Given the description of an element on the screen output the (x, y) to click on. 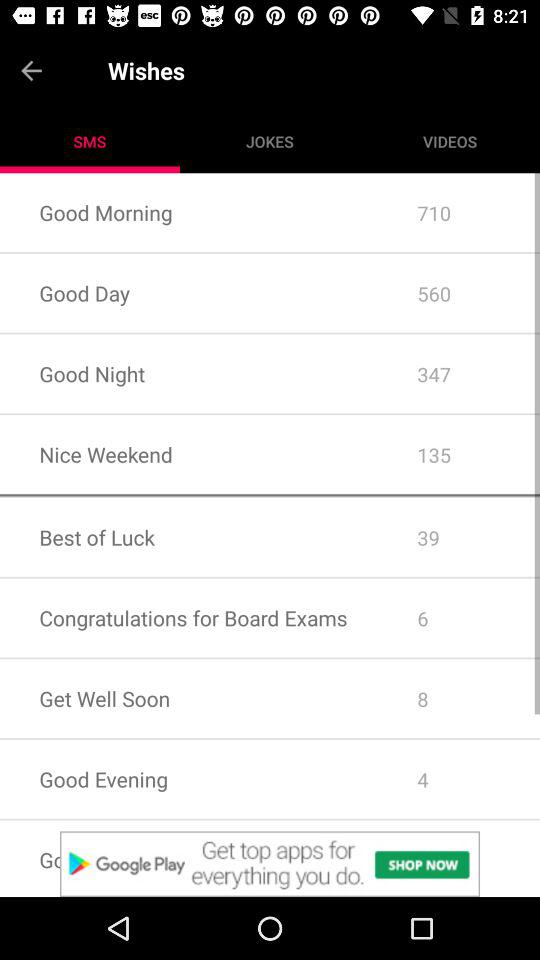
scroll to the 54 app (458, 858)
